Given the description of an element on the screen output the (x, y) to click on. 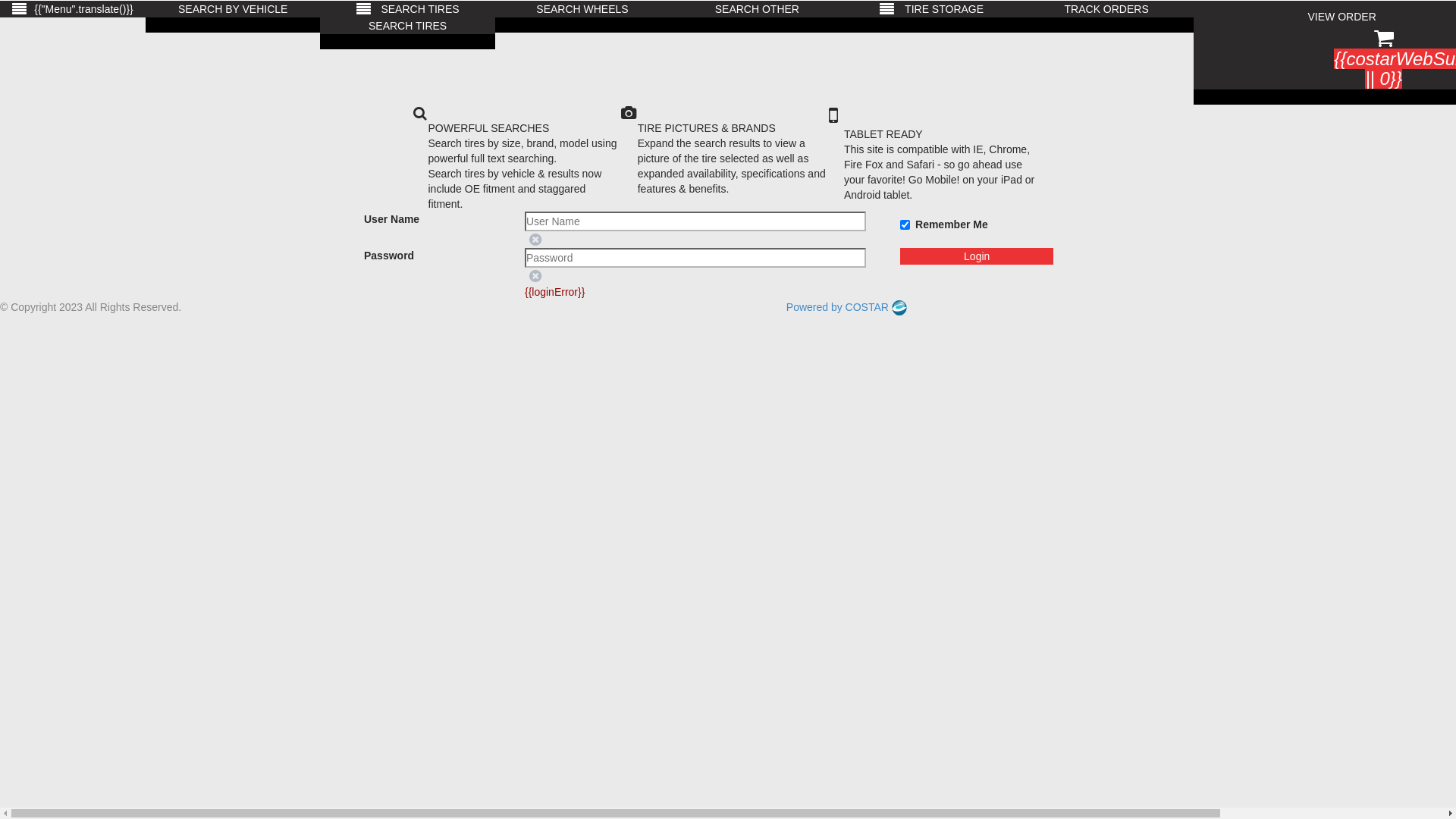
SEARCH WHEELS Element type: text (582, 8)
SEARCH TIRES Element type: text (407, 25)
Login Element type: text (976, 255)
   SEARCH TIRES Element type: text (407, 8)
   TIRE STORAGE Element type: text (931, 8)
TRACK ORDERS Element type: text (1106, 8)
SEARCH BY VEHICLE Element type: text (232, 8)
Powered by COSTAR Element type: text (846, 307)
SEARCH OTHER Element type: text (756, 8)
